Given the description of an element on the screen output the (x, y) to click on. 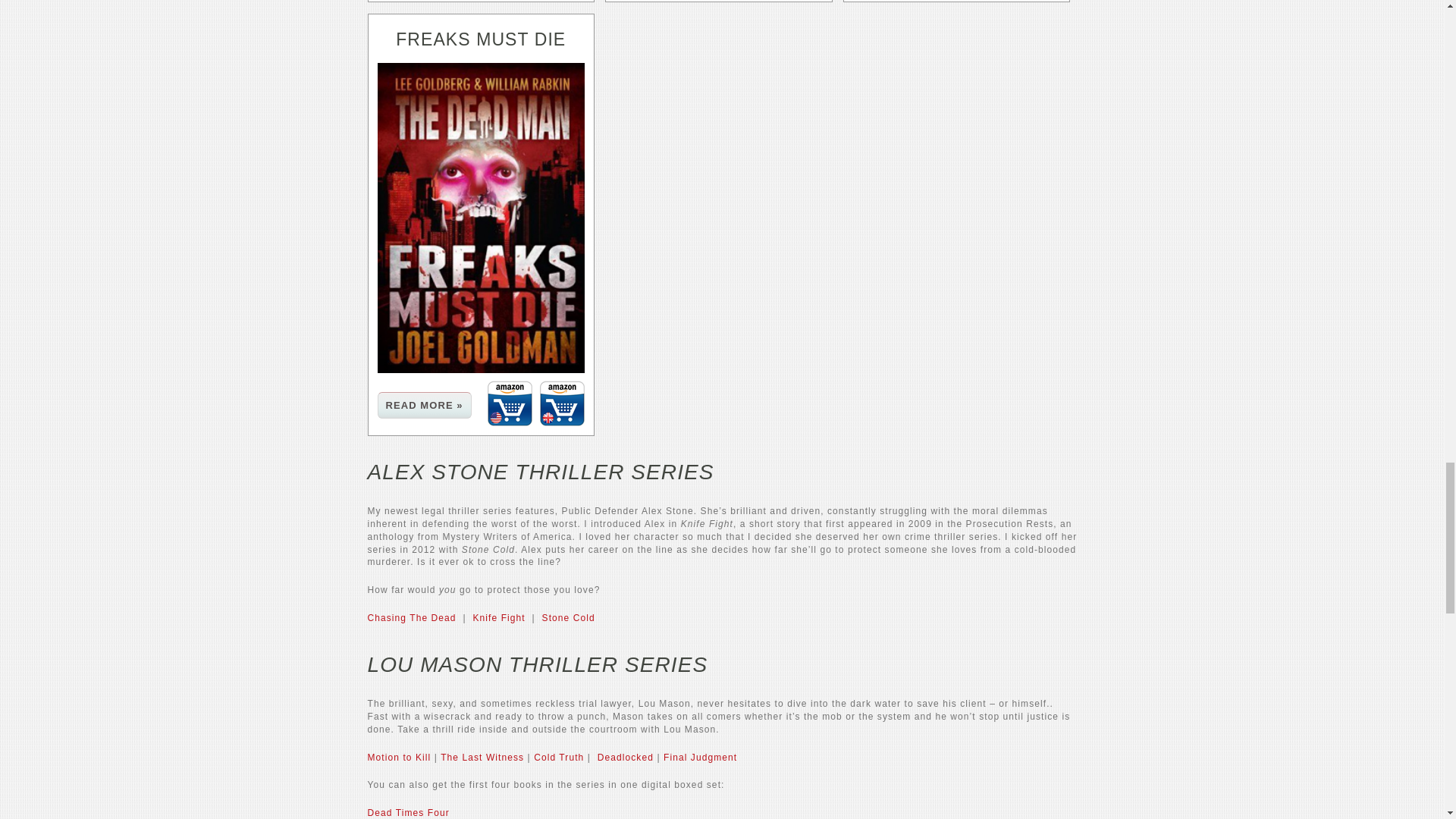
Knife Fight (497, 617)
More about Freaks Must Die (424, 405)
